Given the description of an element on the screen output the (x, y) to click on. 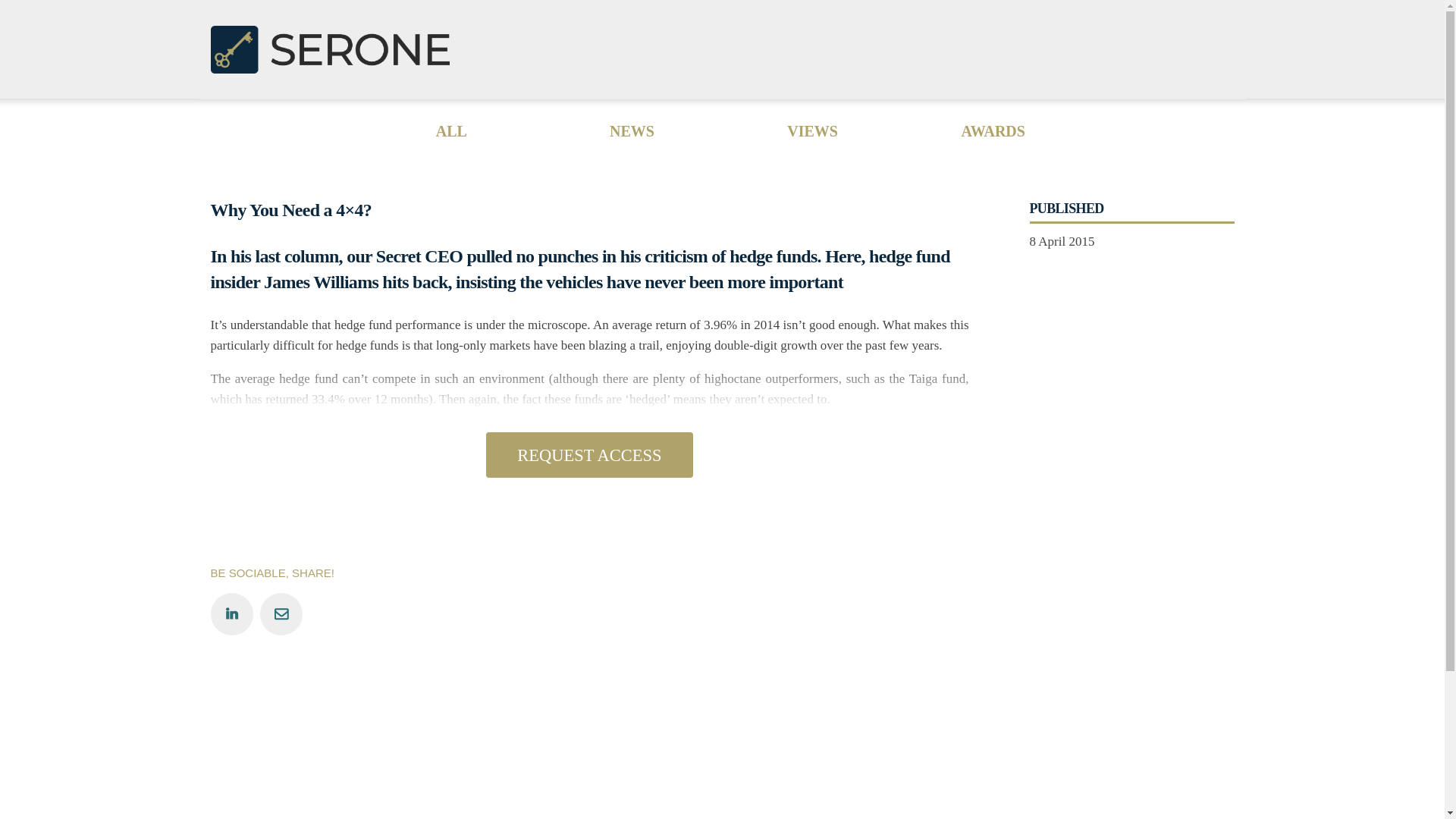
ALL (451, 130)
